Given the description of an element on the screen output the (x, y) to click on. 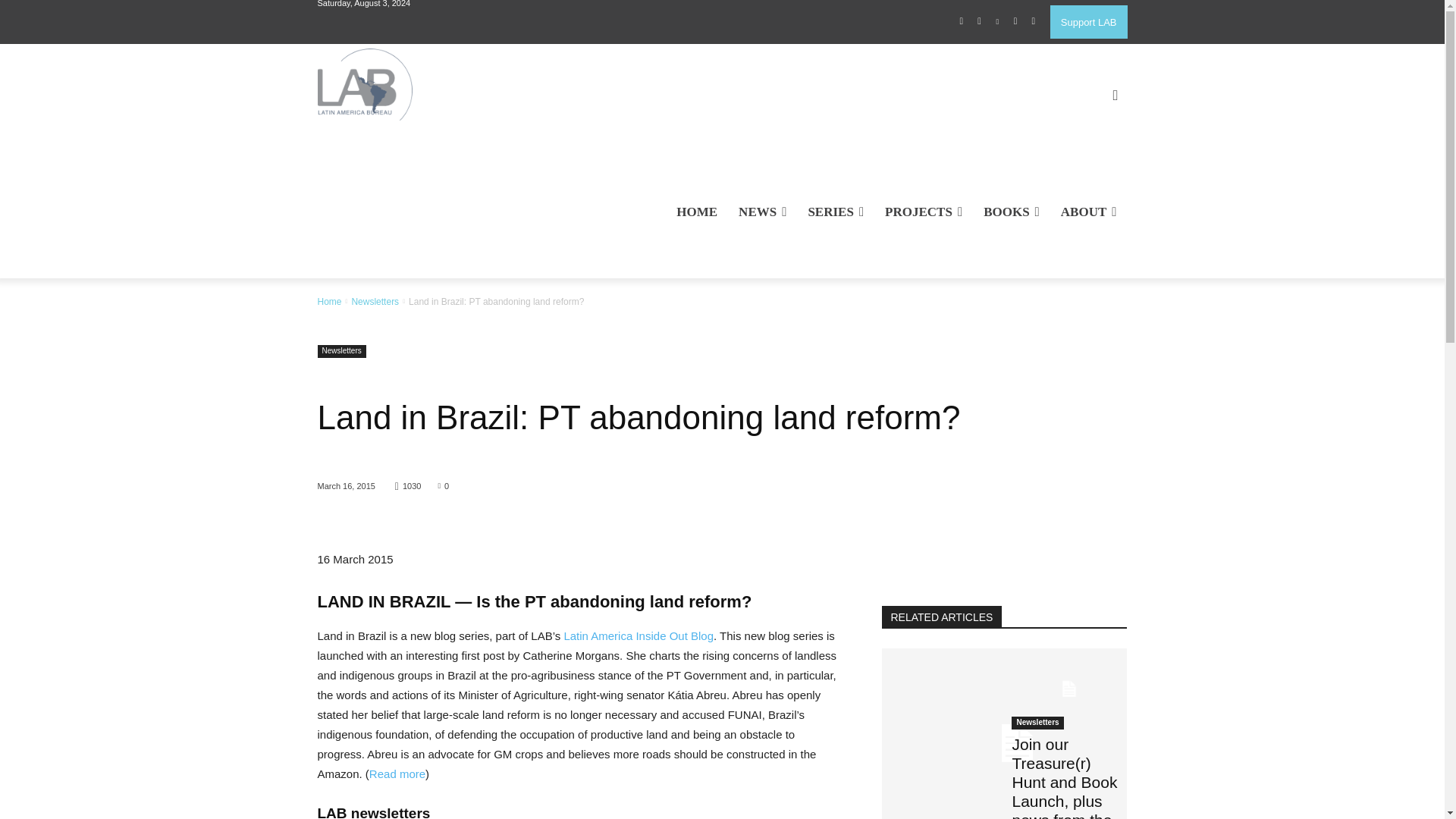
Support LAB (1087, 21)
Instagram (979, 22)
Facebook (961, 22)
Linkedin (997, 22)
Twitter (1015, 22)
Youtube (1033, 22)
